Given the description of an element on the screen output the (x, y) to click on. 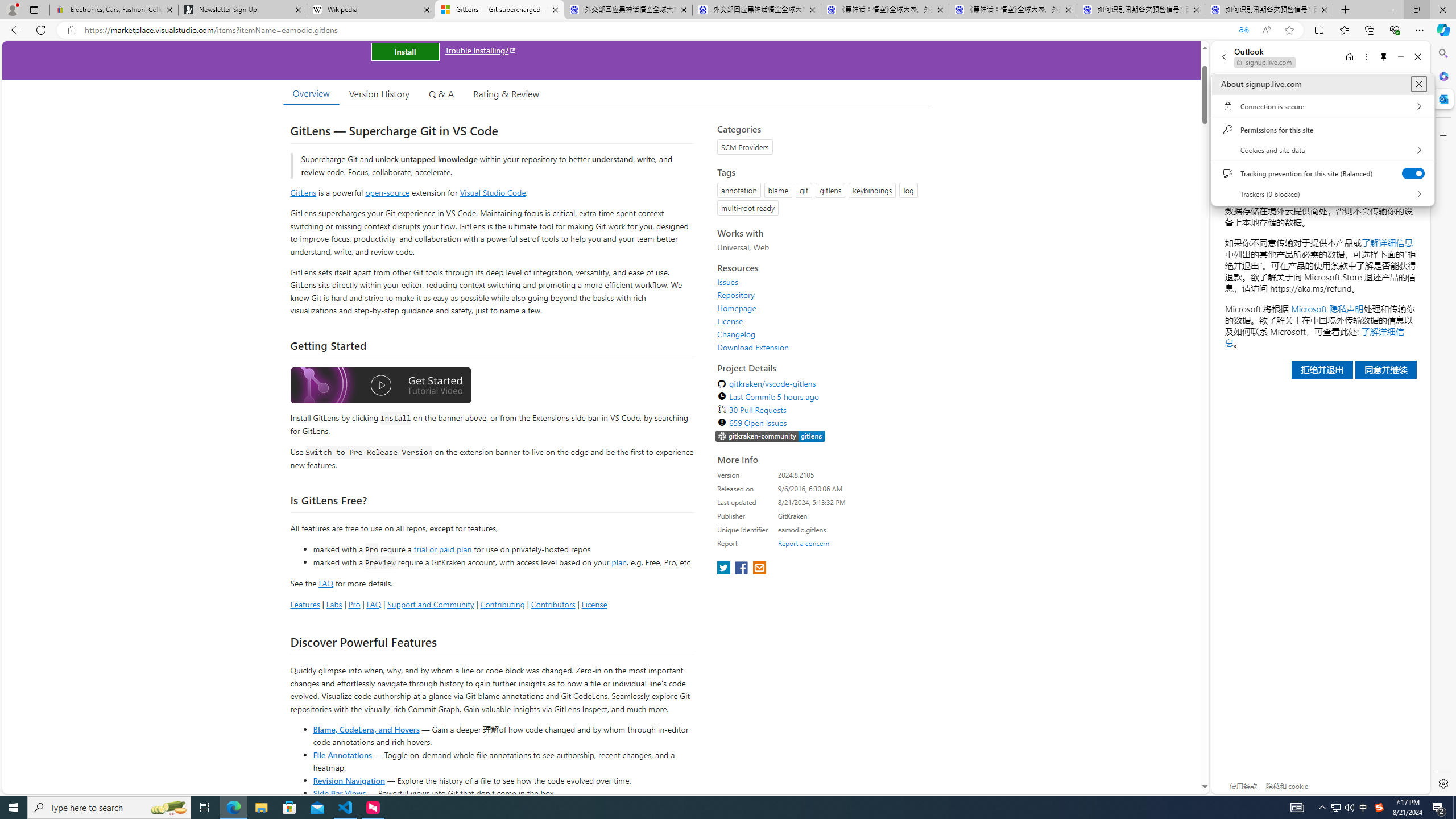
User Promoted Notification Area (1342, 807)
Cookies and site data (1322, 150)
Q2790: 100% (1349, 807)
Start (13, 807)
Microsoft Edge - 1 running window (233, 807)
About signup.live.com (1418, 83)
Running applications (707, 807)
File Explorer (261, 807)
Show desktop (1454, 807)
Microsoft Store (289, 807)
Task View (204, 807)
Notification Chevron (1322, 807)
AutomationID: 4105 (1297, 807)
